Given the description of an element on the screen output the (x, y) to click on. 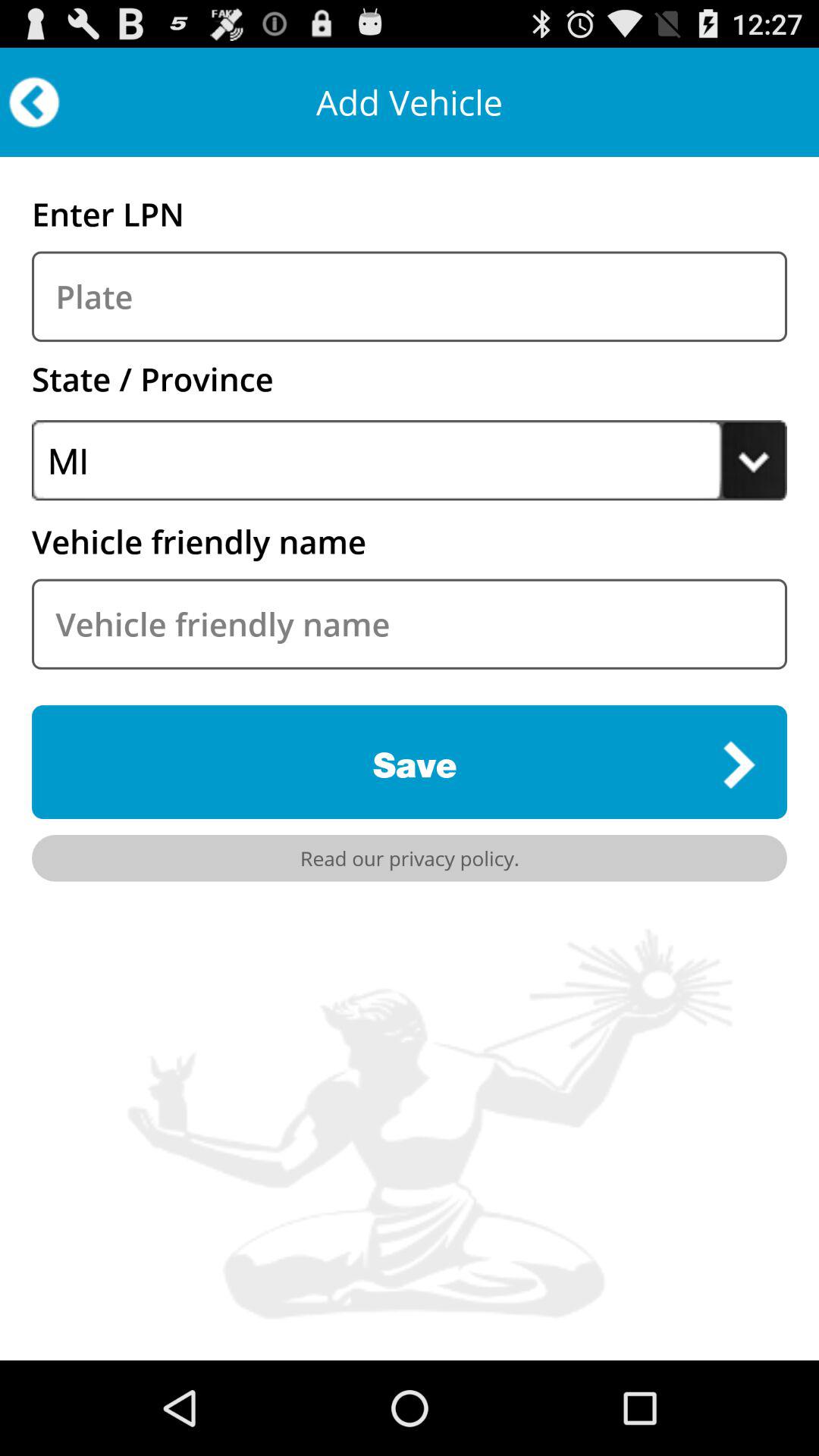
enter license plate number (409, 296)
